Given the description of an element on the screen output the (x, y) to click on. 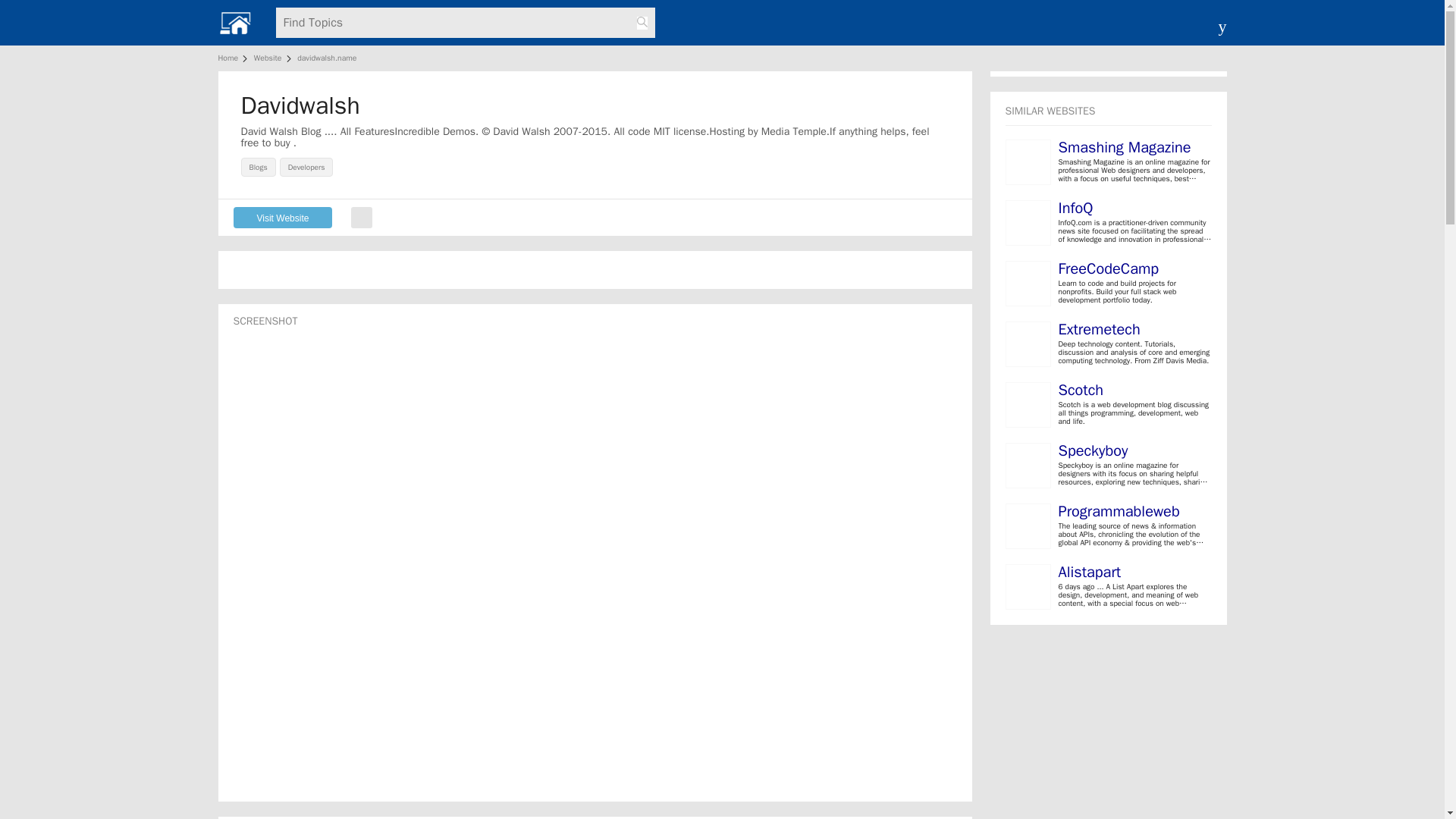
FreeCodeCamp (1108, 268)
Home (230, 57)
InfoQ (1075, 208)
Github (361, 217)
Scotch (1080, 389)
Smashing Magazine (1124, 147)
Alistapart (1089, 571)
Developers (308, 165)
Extremetech (1099, 329)
Speckyboy (1093, 450)
